Given the description of an element on the screen output the (x, y) to click on. 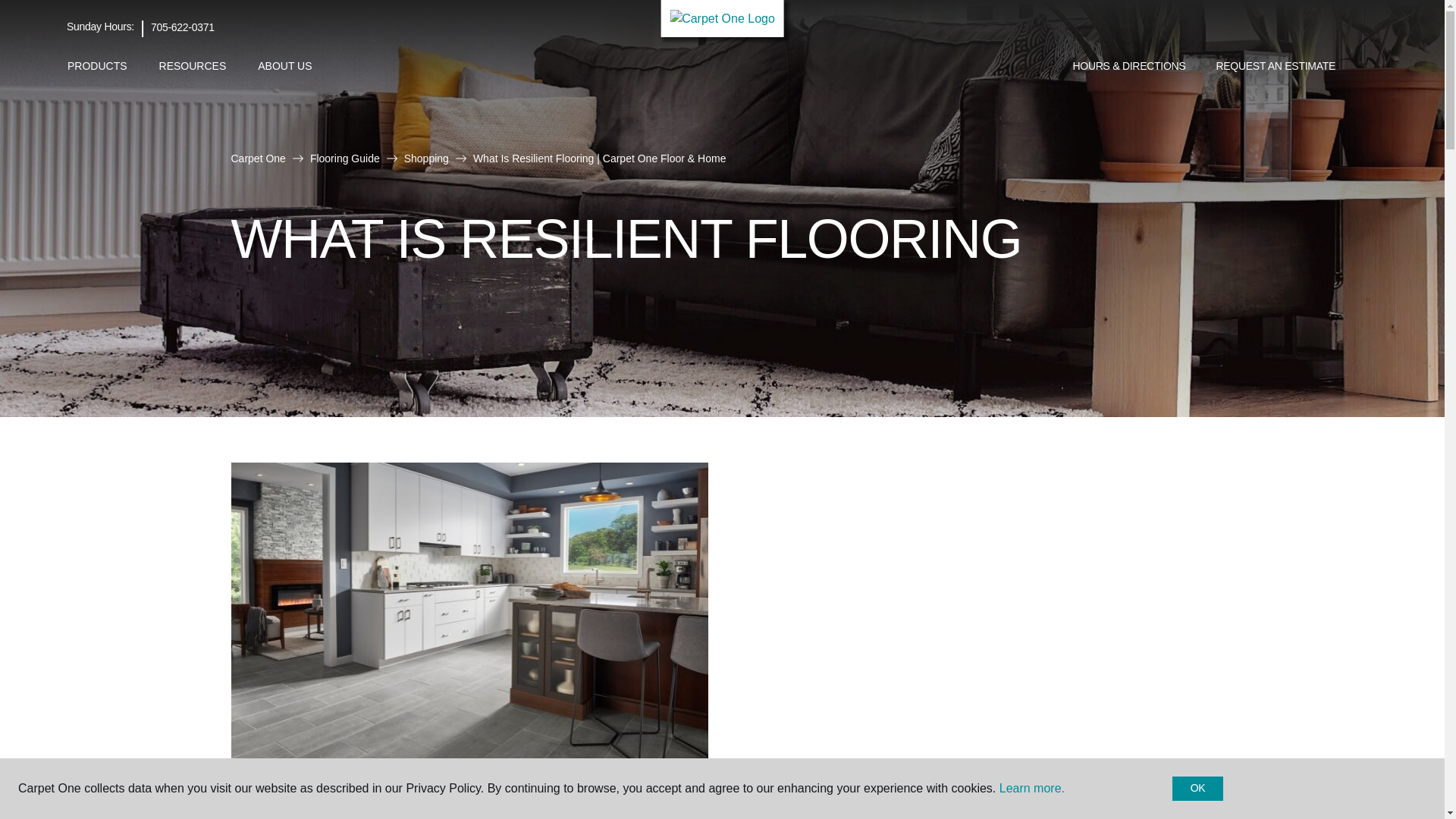
RESOURCES (193, 66)
REQUEST AN ESTIMATE (1276, 66)
PRODUCTS (97, 66)
705-622-0371 (182, 27)
ABOUT US (284, 66)
